Given the description of an element on the screen output the (x, y) to click on. 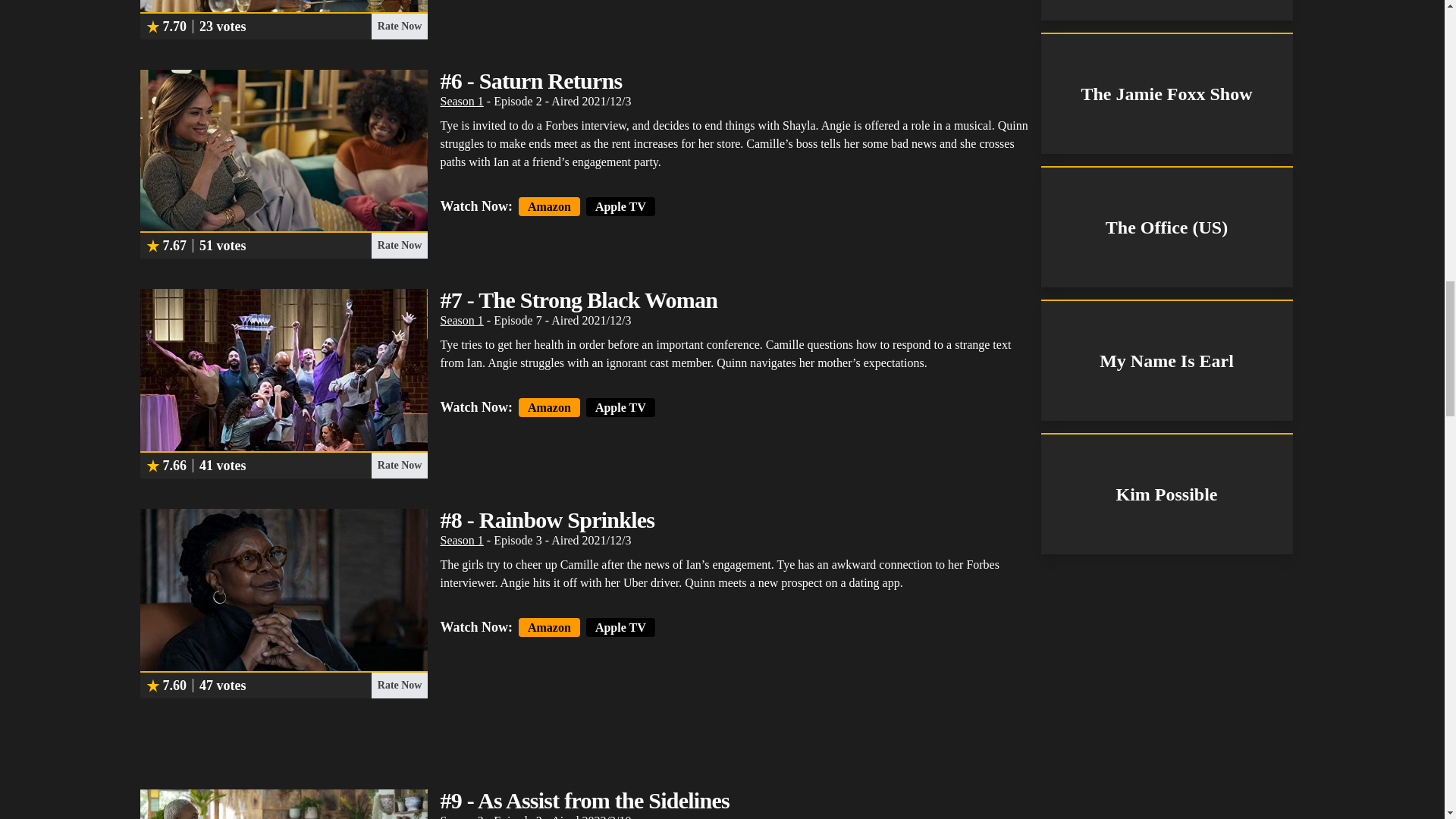
Season 1 (461, 319)
Season 1 (461, 540)
Apple TV (620, 407)
Amazon (548, 407)
Rate Now (399, 26)
Amazon (548, 206)
Rate Now (399, 685)
Rate Now (399, 465)
Apple TV (620, 206)
Rate Now (399, 245)
Season 1 (461, 101)
